Given the description of an element on the screen output the (x, y) to click on. 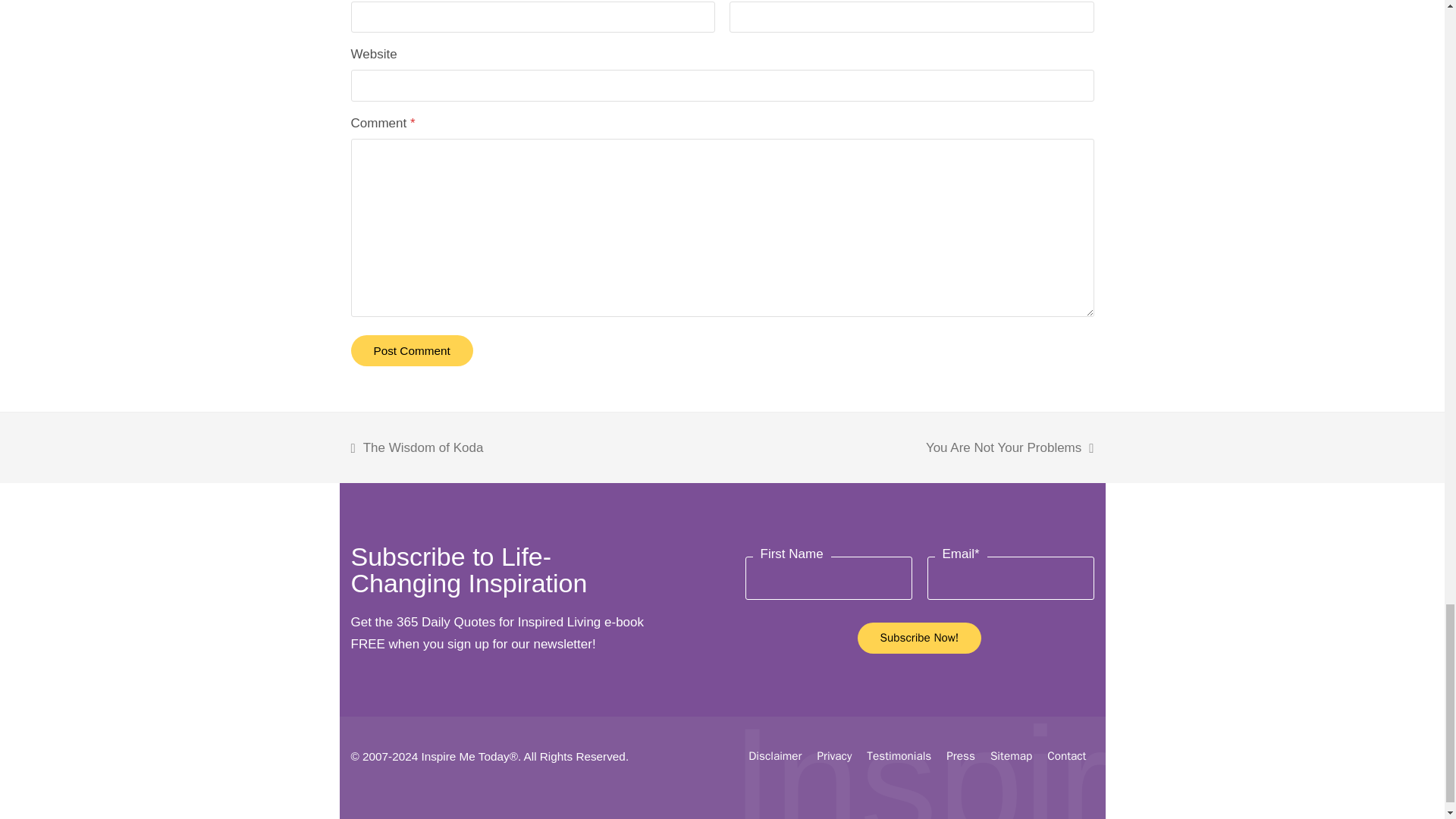
Press (960, 755)
Post Comment (410, 350)
Subscribe Now! (919, 637)
Contact (1066, 755)
Sitemap (1011, 755)
Testimonials (898, 755)
Privacy (833, 755)
Post Comment (410, 350)
